Given the description of an element on the screen output the (x, y) to click on. 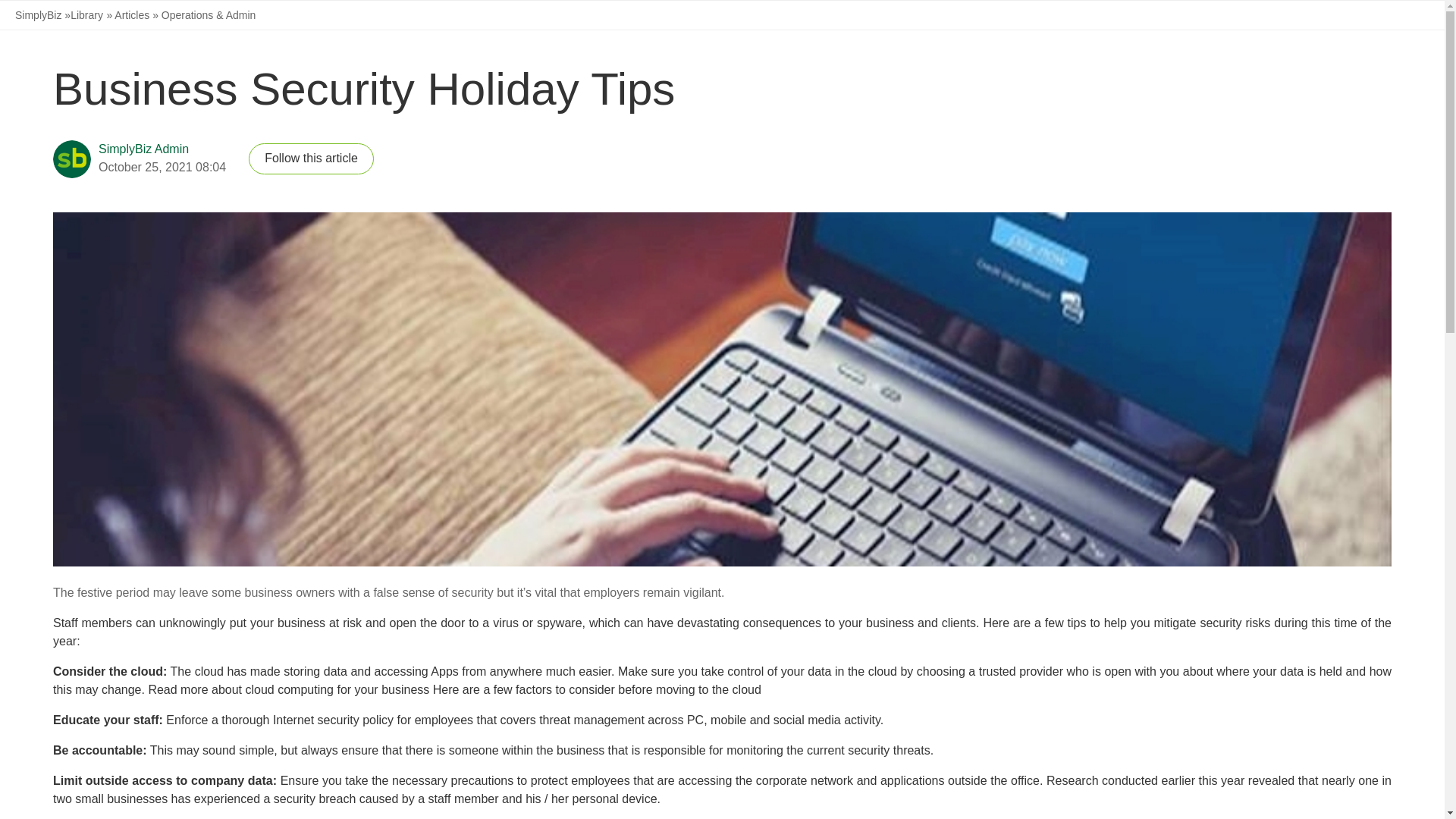
Business security holiday tips (363, 88)
Follow (311, 158)
Library (83, 15)
Library (86, 15)
Opens a sign-in dialog (311, 158)
SimplyBiz (37, 15)
Articles (129, 15)
SimplyBiz (39, 15)
SimplyBiz Admin (144, 148)
2021-10-25T08:04:58Z (162, 166)
Articles (132, 15)
